Given the description of an element on the screen output the (x, y) to click on. 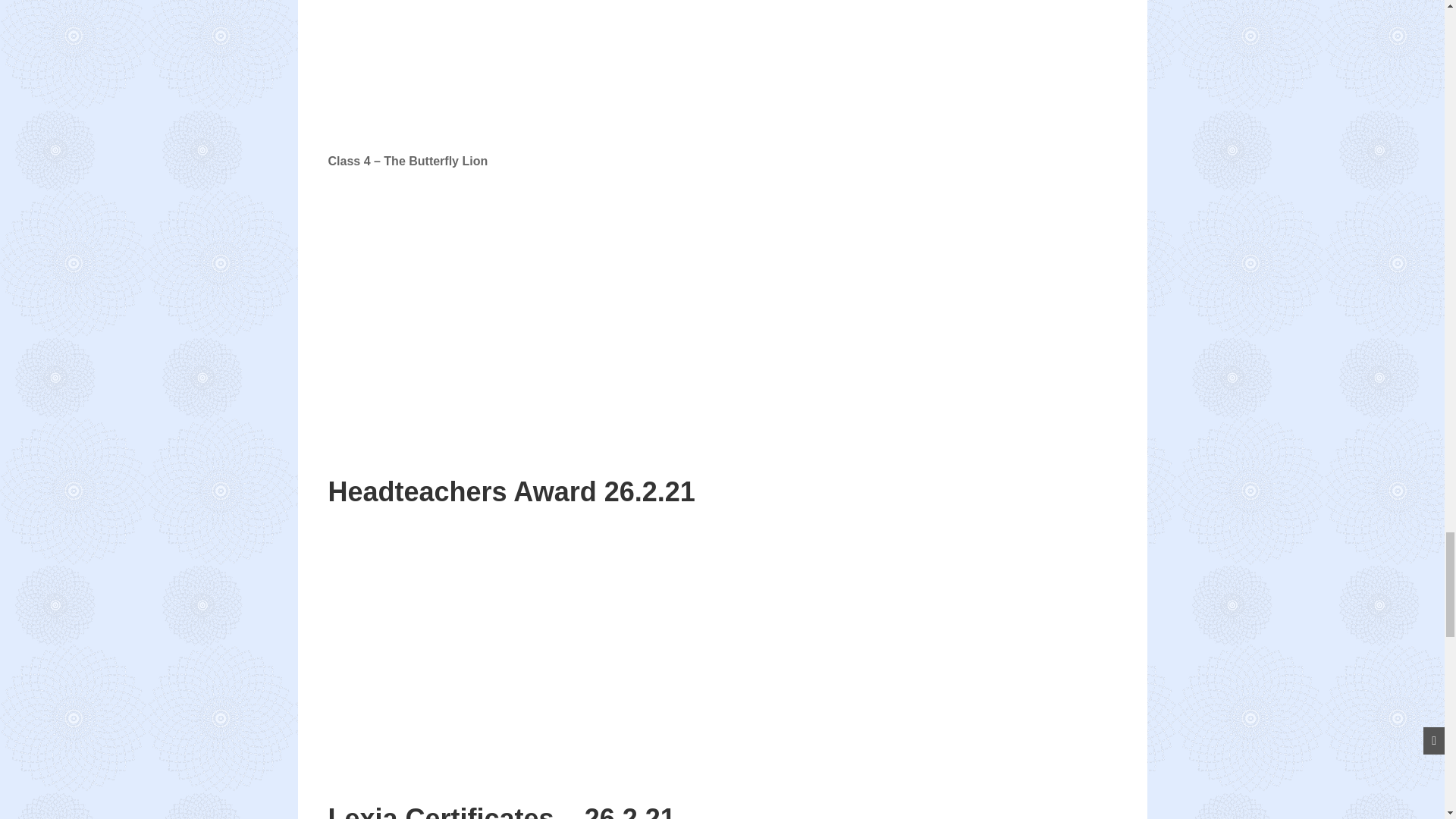
Class 3 Storytime. Firework makers daughter. (516, 63)
The Butterfly Lion - 26.2.21 (516, 297)
